Given the description of an element on the screen output the (x, y) to click on. 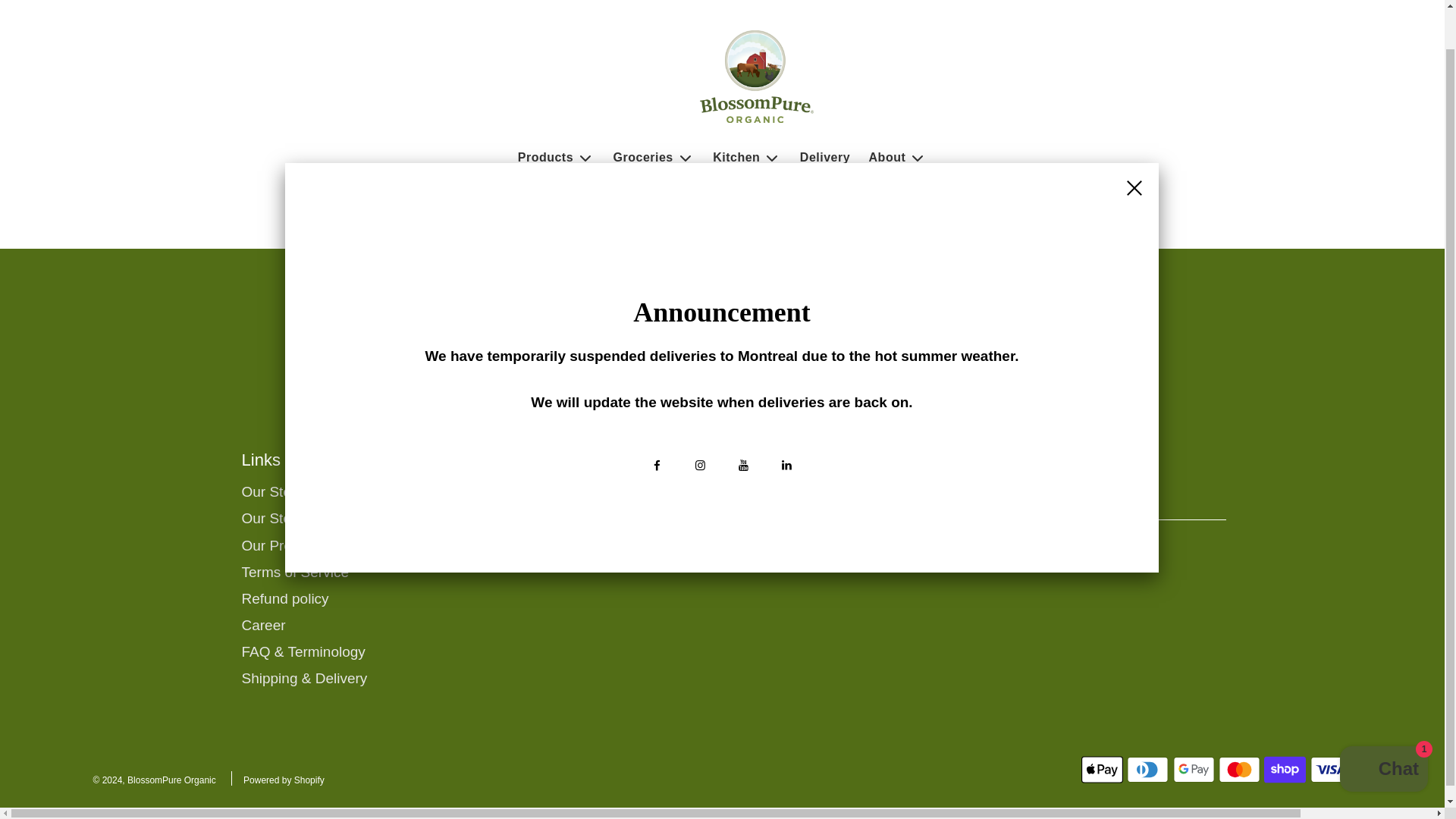
Shop Pay (1284, 769)
Visa (1331, 769)
Google Pay (1193, 769)
Shopify online store chat (1383, 728)
Diners Club (1147, 769)
Apple Pay (1101, 769)
Subscribe (1044, 548)
Mastercard (1239, 769)
